Given the description of an element on the screen output the (x, y) to click on. 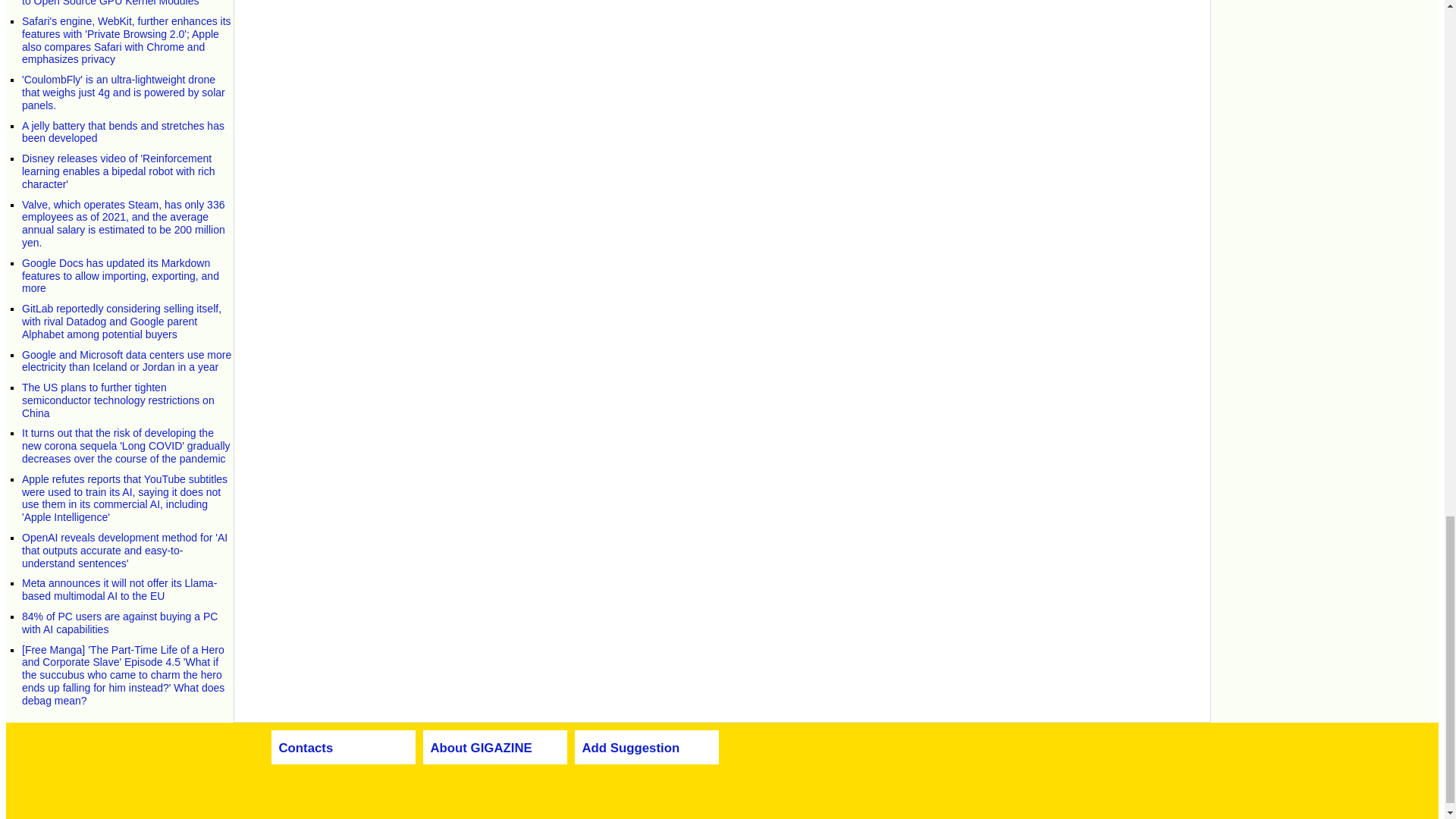
Add Suggestion (630, 748)
